Given the description of an element on the screen output the (x, y) to click on. 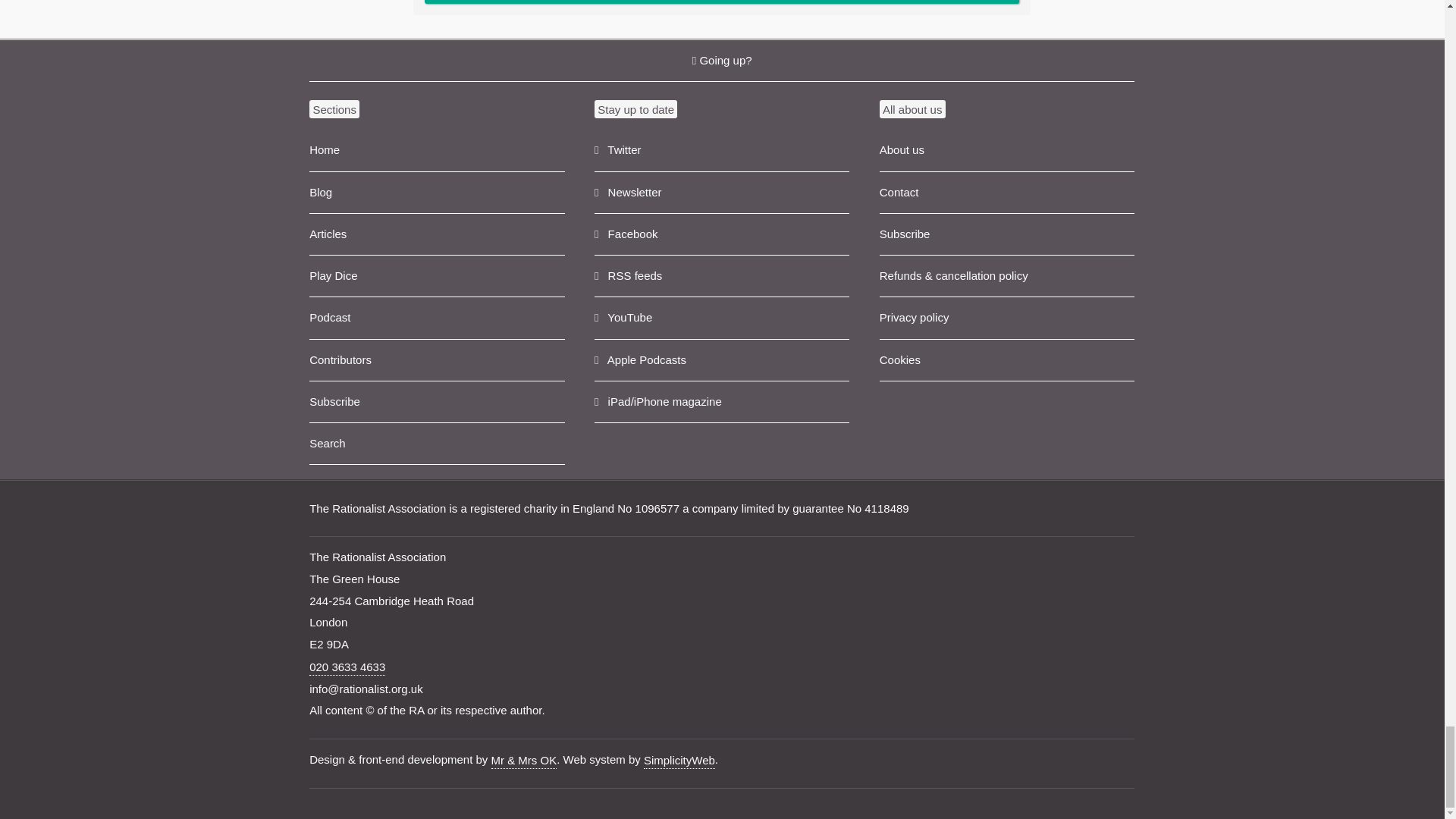
Subscribe (436, 402)
RSS feeds (721, 276)
Search (436, 444)
Facebook (721, 234)
Apple Podcasts (721, 360)
Going up? (721, 60)
Newsletter (721, 192)
Play Dice (436, 276)
Blog (436, 192)
